Given the description of an element on the screen output the (x, y) to click on. 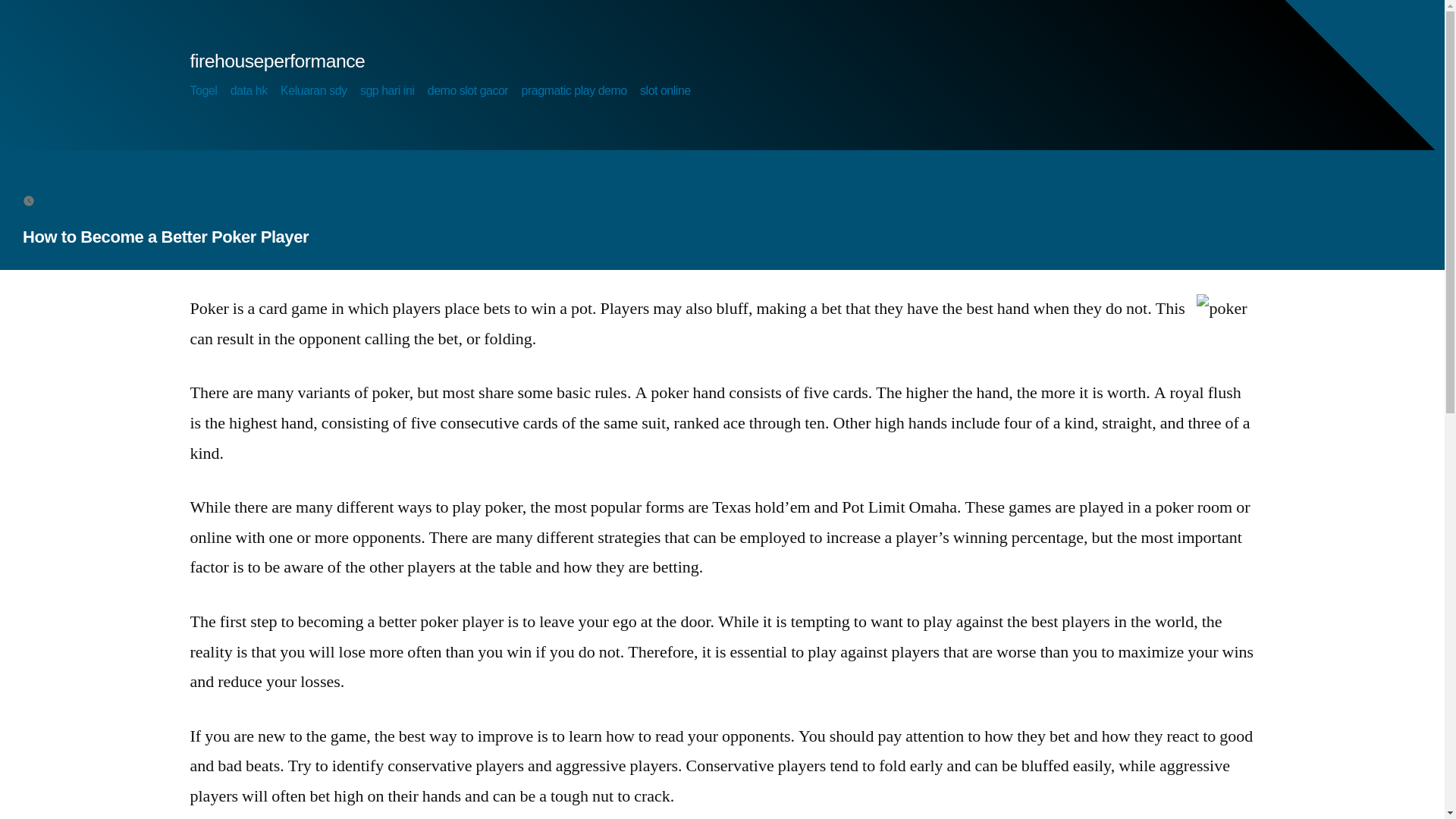
Togel (202, 90)
pragmatic play demo (574, 90)
July 9, 2023 (72, 199)
demo slot gacor (468, 90)
firehouseperformance (277, 60)
slot online (665, 90)
sgp hari ini (386, 90)
Keluaran sdy (313, 90)
data hk (248, 90)
